Given the description of an element on the screen output the (x, y) to click on. 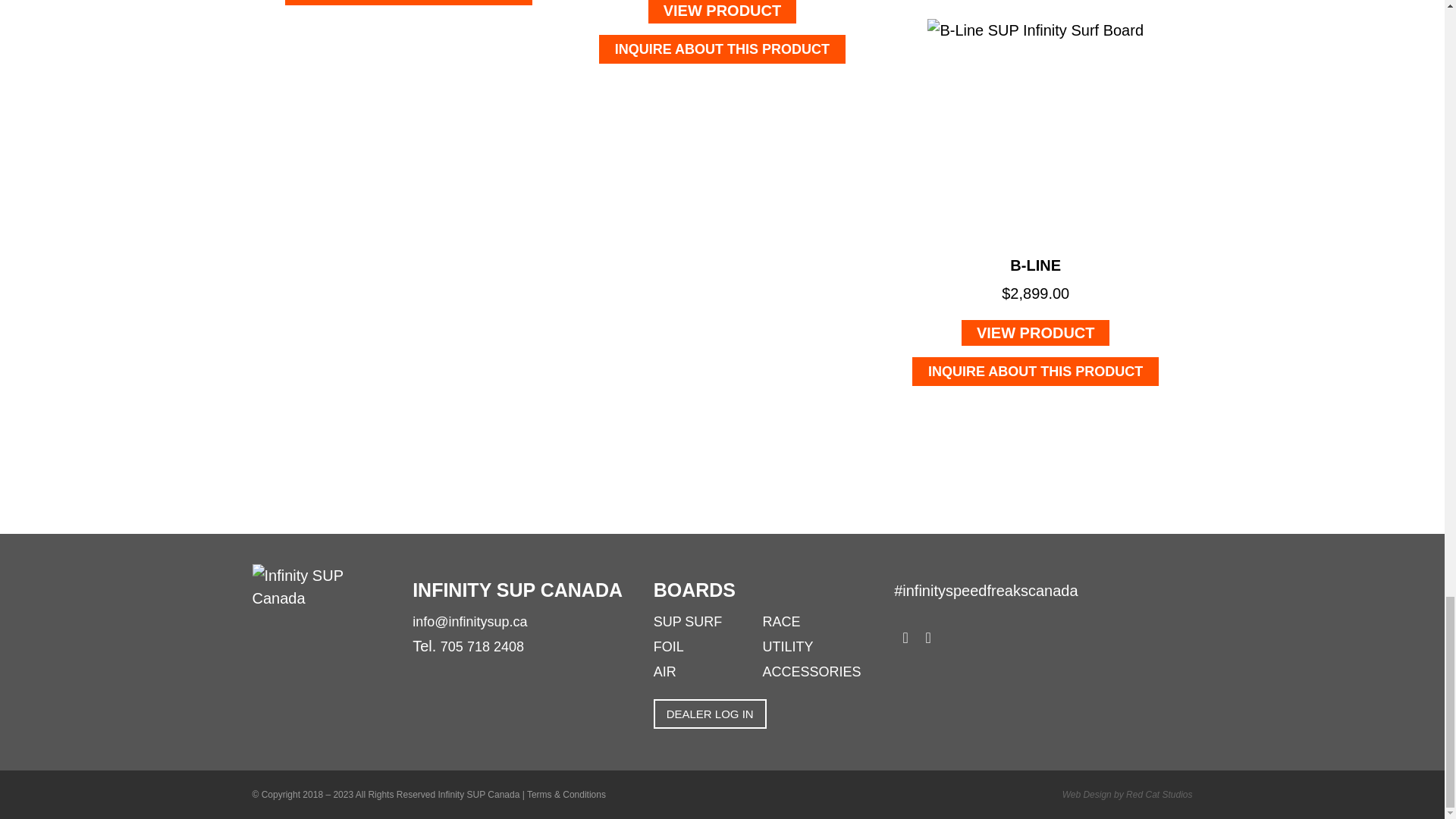
Mail Address (469, 621)
Contact Number (482, 646)
Dealer log in (710, 713)
